Given the description of an element on the screen output the (x, y) to click on. 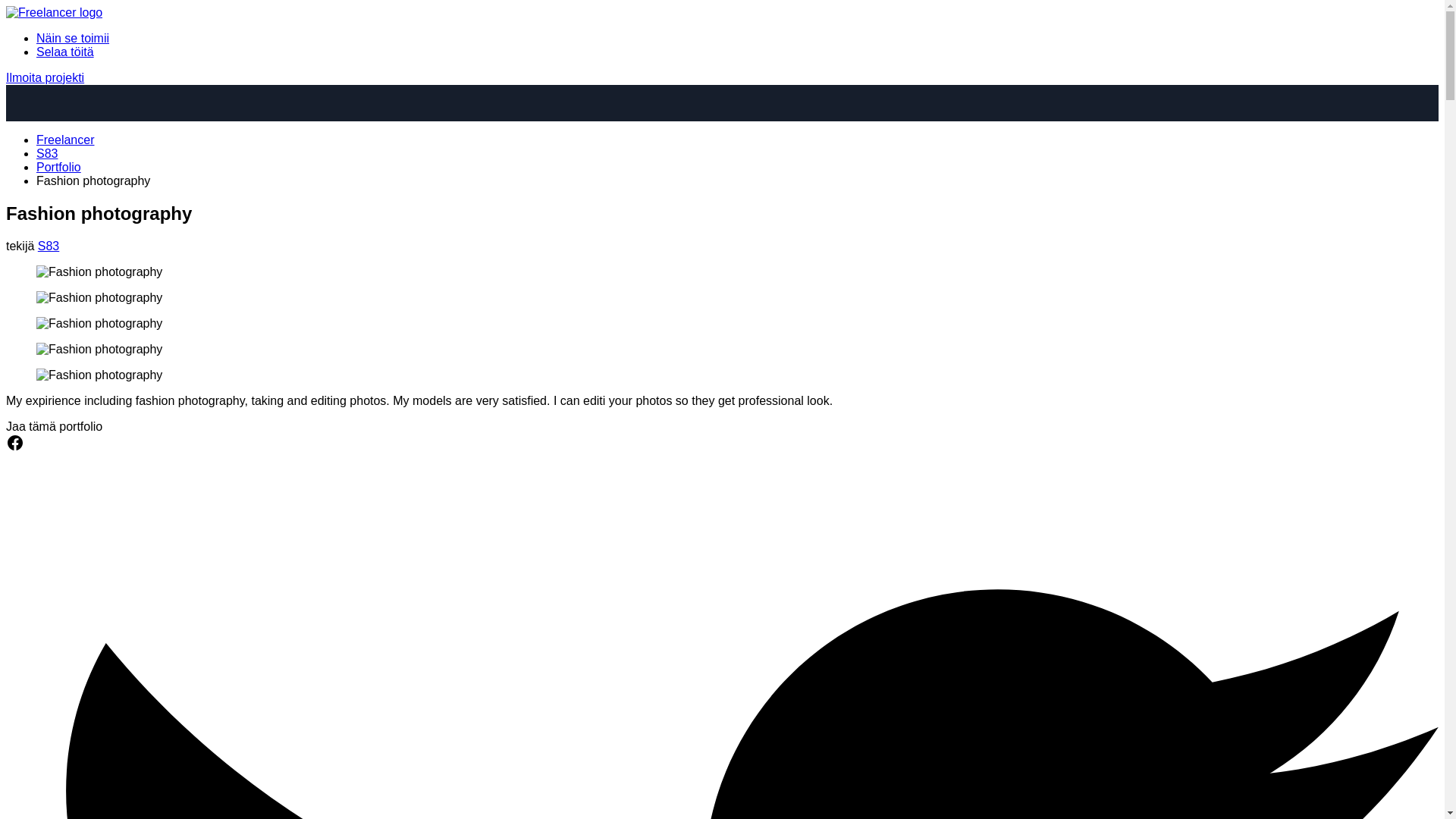
Portfolio (58, 166)
S83 (48, 245)
Freelancer (65, 139)
S83 (47, 153)
Ilmoita projekti (44, 77)
Jaa Facebookissa (14, 447)
